Given the description of an element on the screen output the (x, y) to click on. 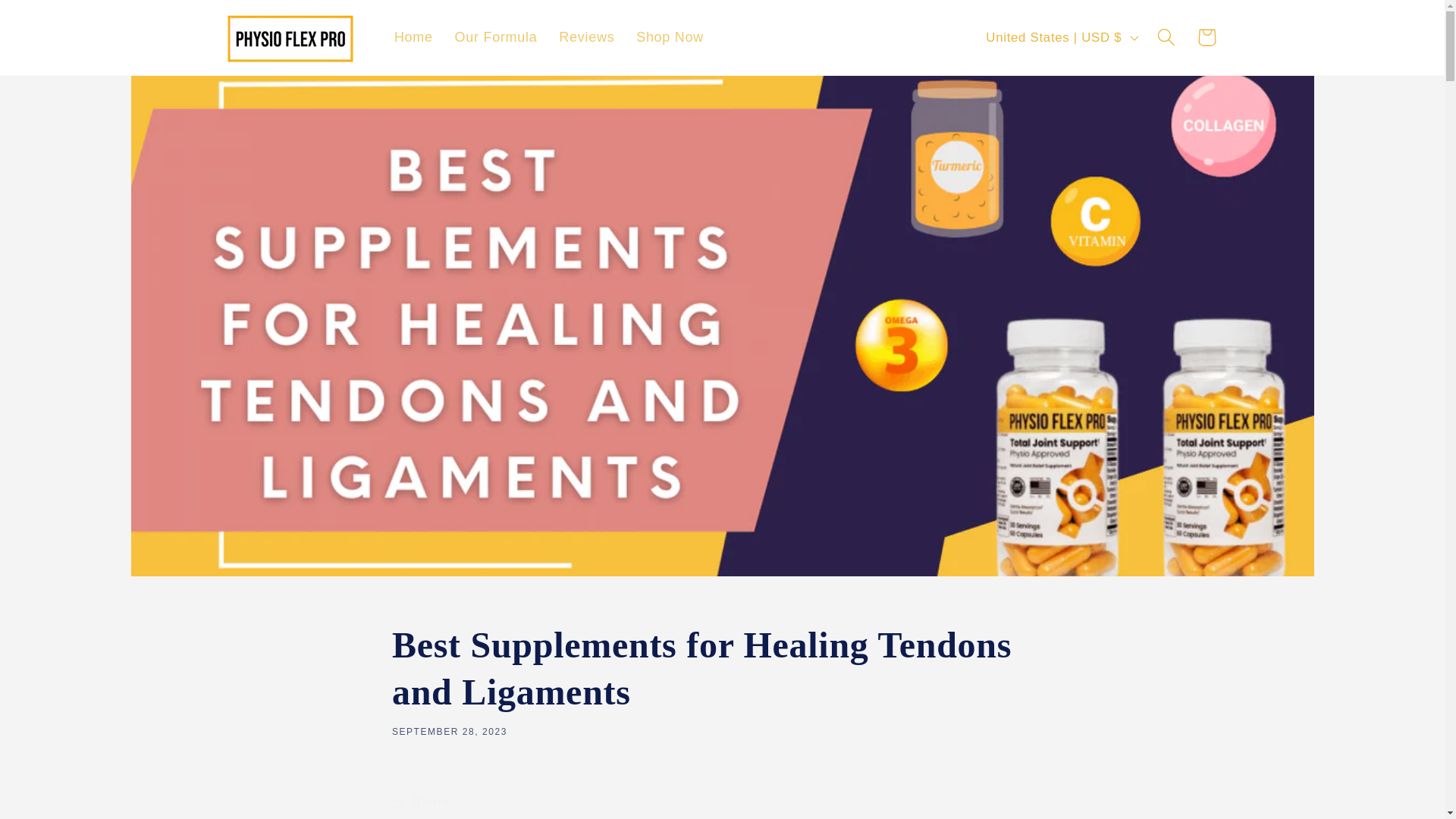
Our Formula (496, 37)
Share (721, 800)
Reviews (587, 37)
Skip to content (55, 20)
Shop Now (670, 37)
Cart (1205, 37)
Home (414, 37)
